Given the description of an element on the screen output the (x, y) to click on. 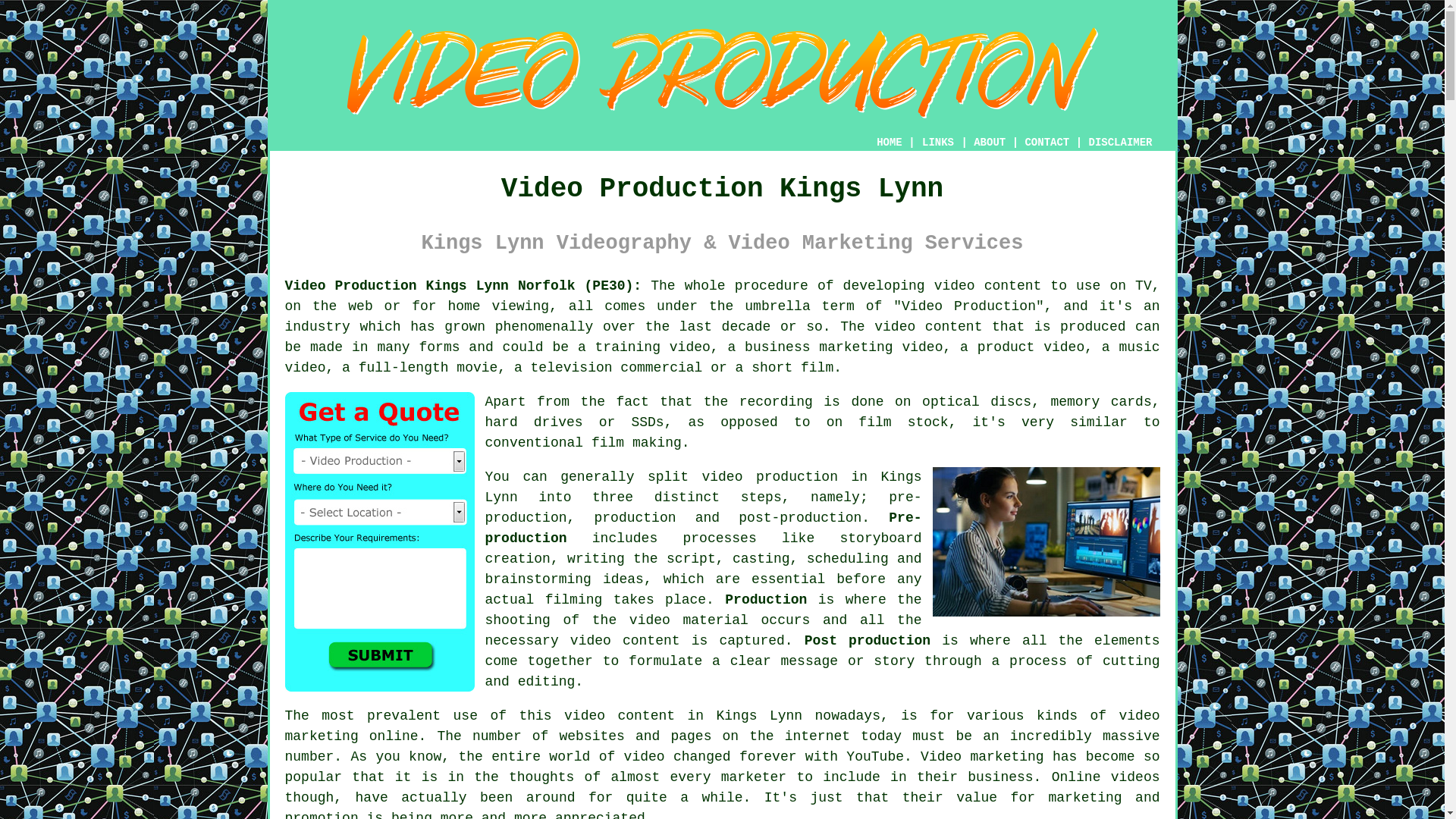
LINKS (938, 142)
Kings Lynn Video Production Quotes (379, 541)
video production (769, 476)
HOME (889, 142)
Video Production Kings Lynn (721, 72)
